Given the description of an element on the screen output the (x, y) to click on. 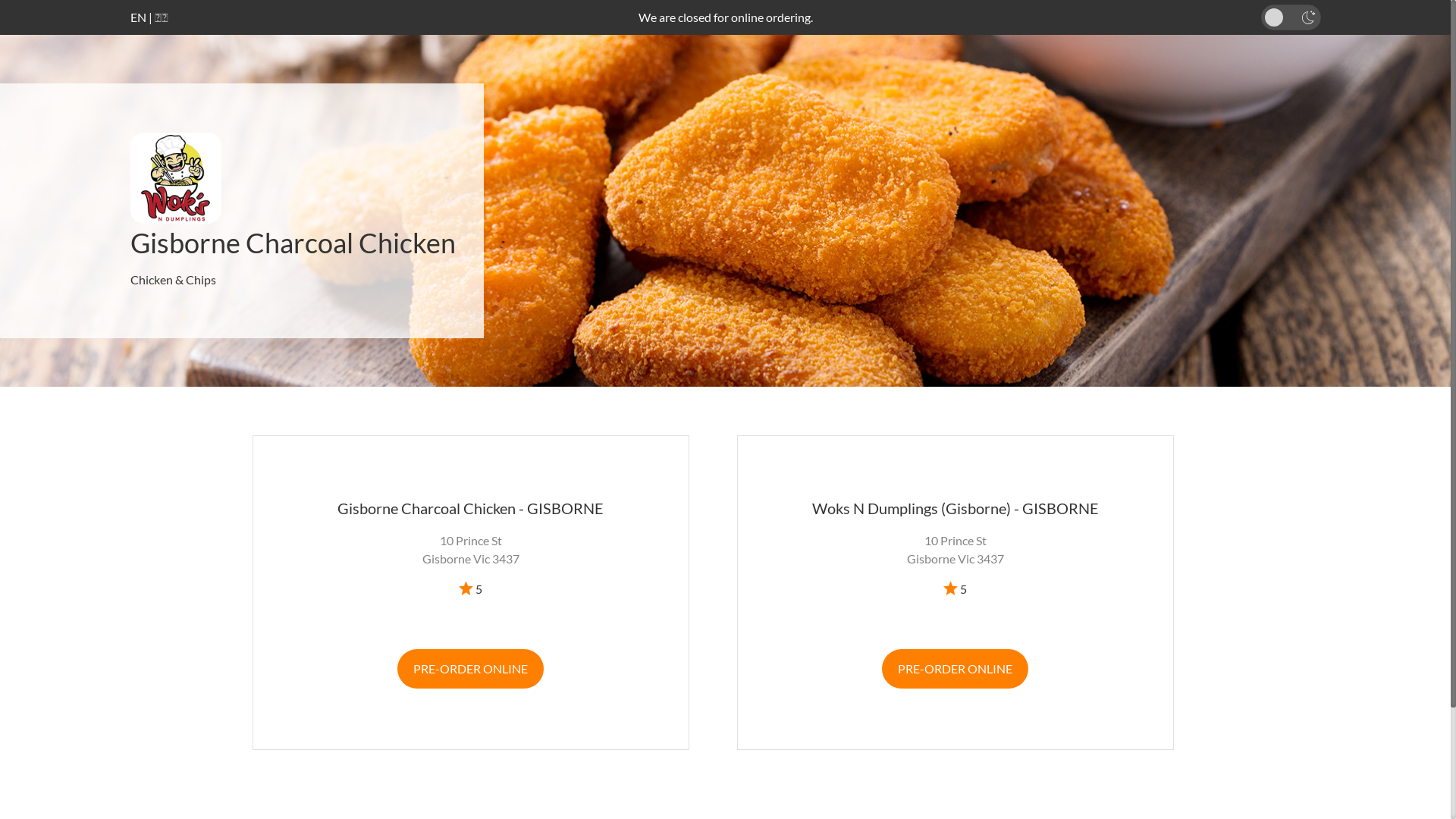
EN Element type: text (138, 16)
Gisborne Charcoal Chicken Element type: text (292, 242)
